Given the description of an element on the screen output the (x, y) to click on. 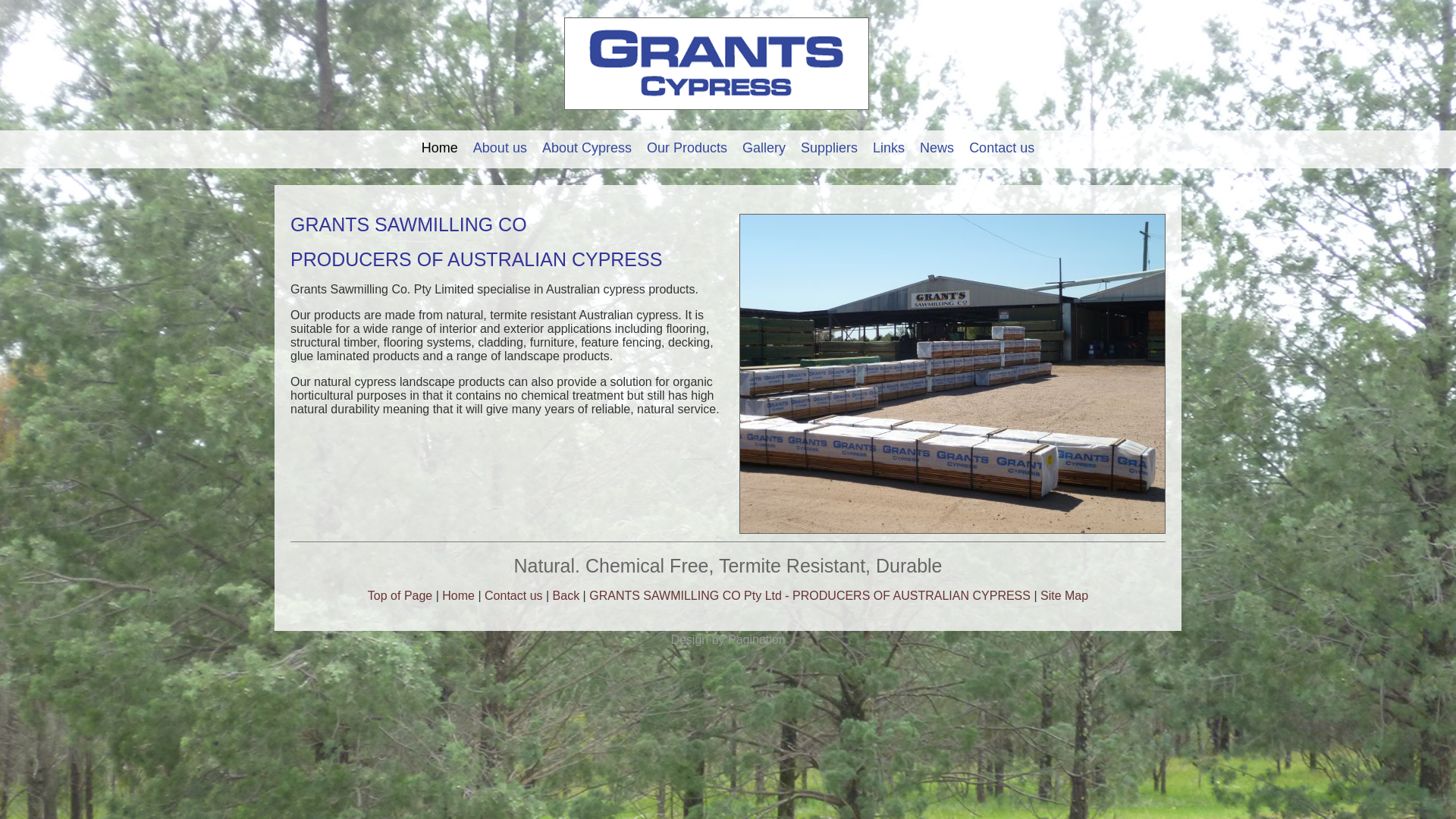
Back Element type: text (566, 595)
Top of Page Element type: text (399, 595)
Home Element type: text (458, 595)
GRANTS_CYPRESS1_HR.JPG Element type: hover (952, 373)
Contact us Element type: text (513, 595)
Pagination Element type: text (756, 639)
Site Map Element type: text (1064, 595)
